Given the description of an element on the screen output the (x, y) to click on. 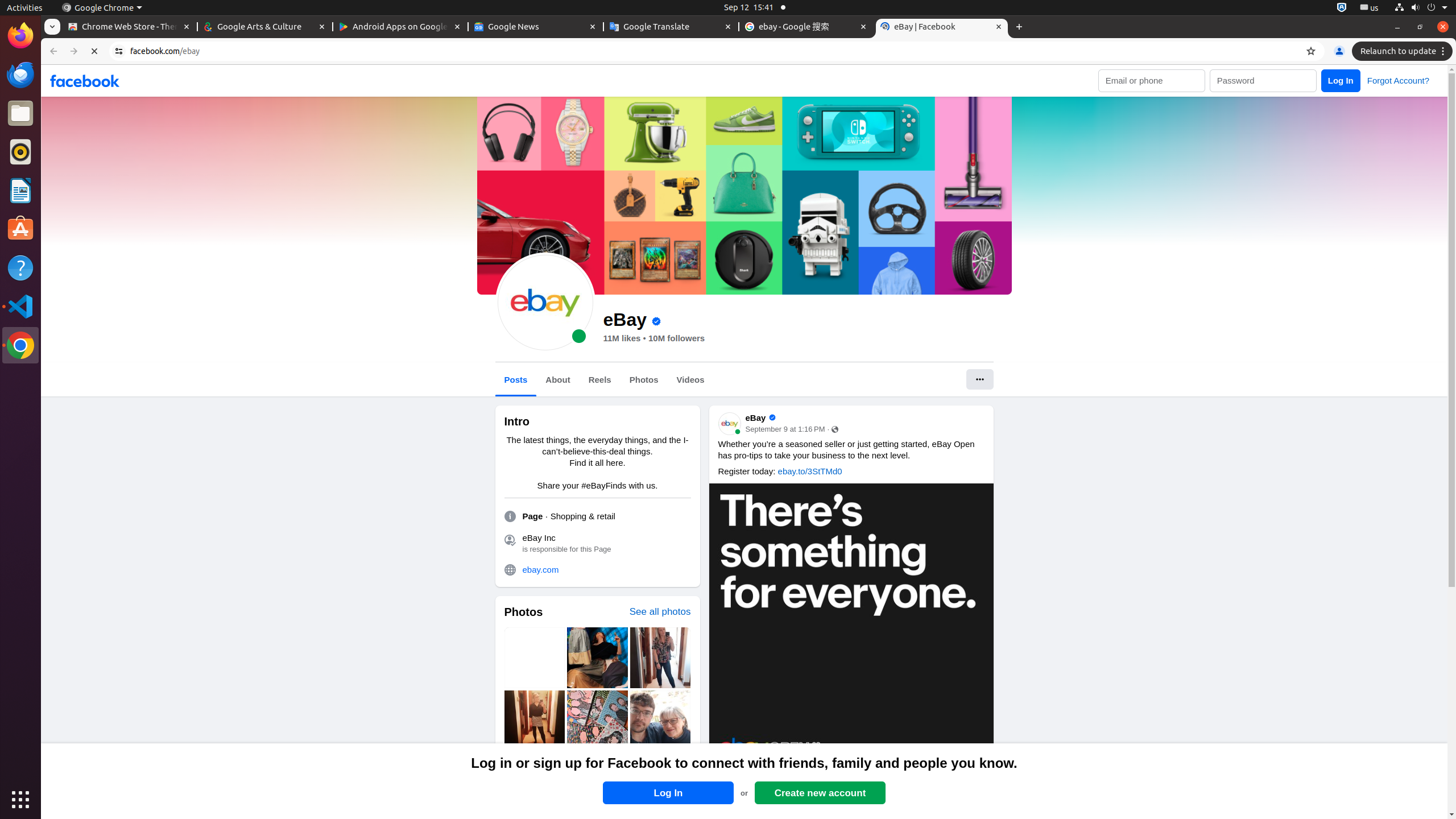
11M likes Element type: link (621, 338)
2 Element type: push-button (976, 779)
Show Applications Element type: toggle-button (20, 799)
Videos Element type: page-tab (690, 379)
Like: 59 people Element type: push-button (723, 779)
